Given the description of an element on the screen output the (x, y) to click on. 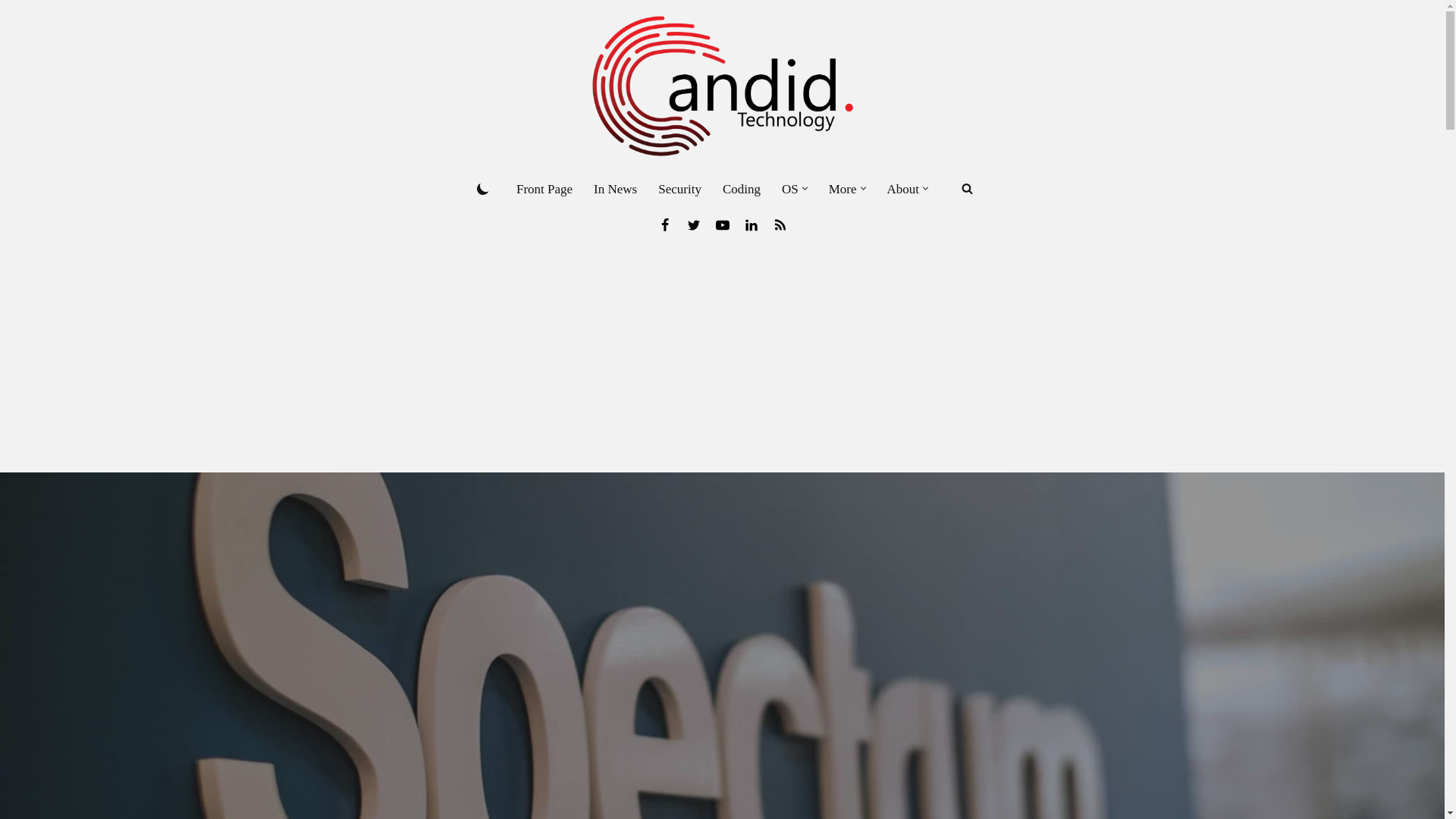
Youtube (721, 224)
Coding (741, 188)
About (903, 188)
Front Page (544, 188)
More (842, 188)
In News (615, 188)
Skip to content (11, 31)
Security (679, 188)
Twitter (692, 224)
